Given the description of an element on the screen output the (x, y) to click on. 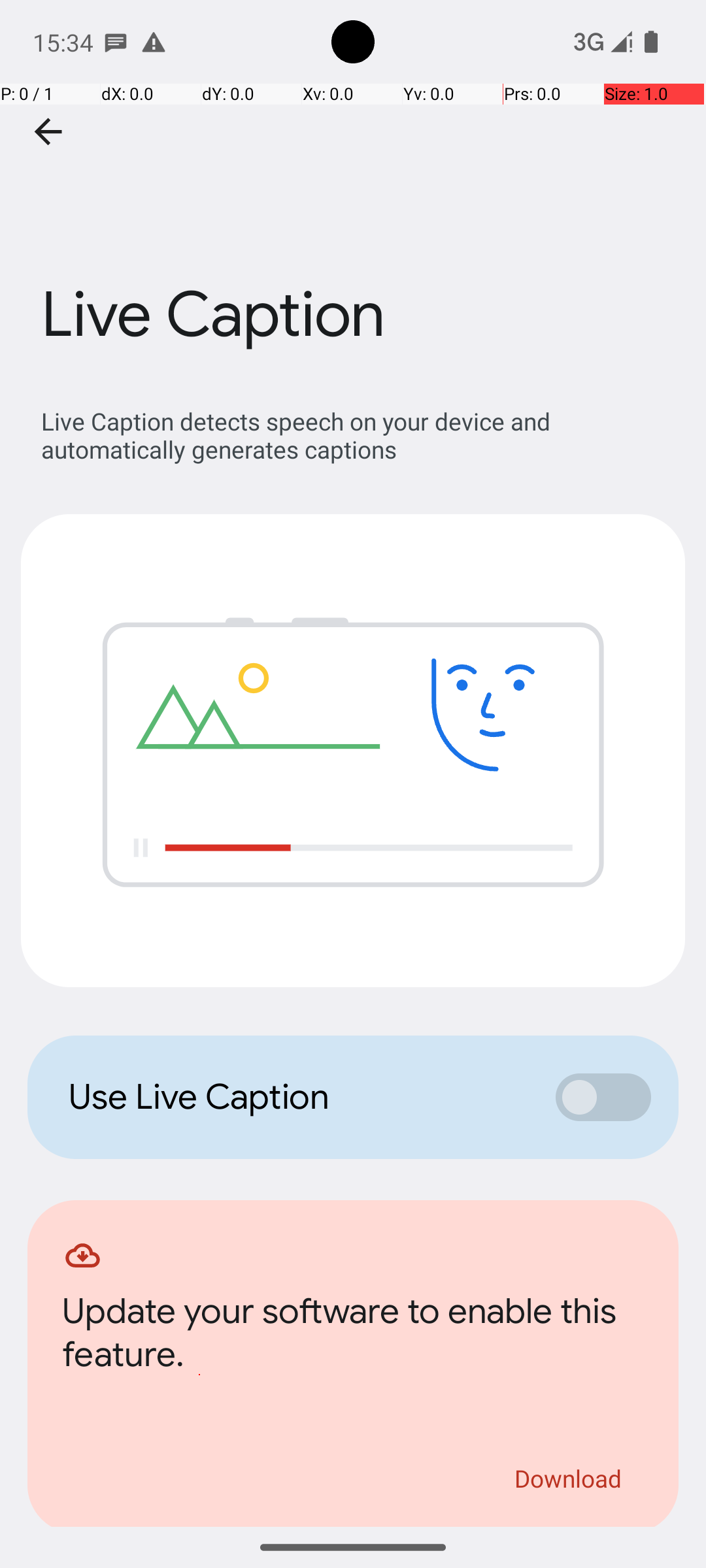
Live Caption detects speech on your device and automatically generates captions Element type: android.widget.TextView (359, 434)
Use Live Caption Element type: android.widget.TextView (298, 1096)
Update your software to enable this feature. Element type: android.widget.TextView (352, 1336)
